Given the description of an element on the screen output the (x, y) to click on. 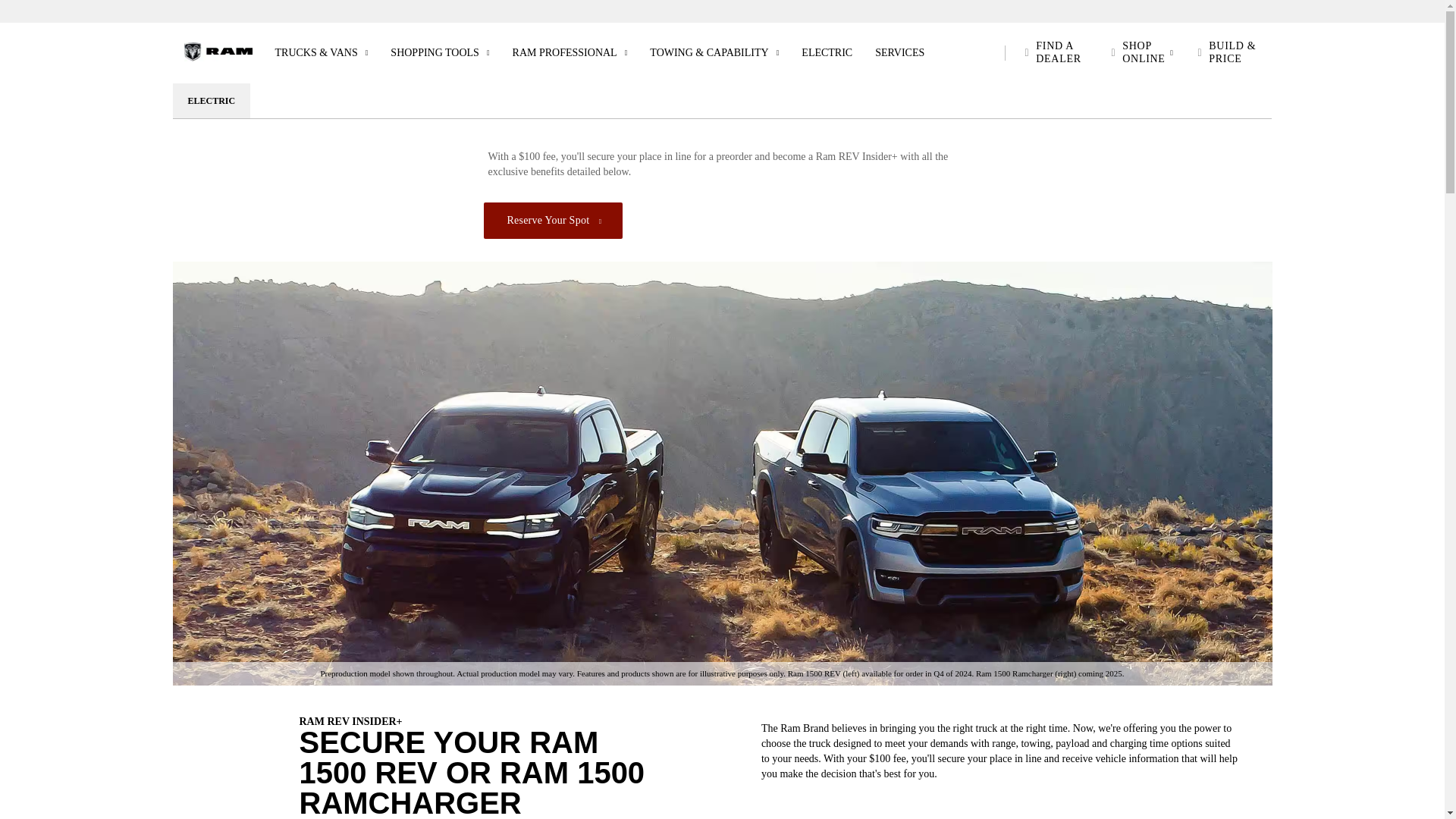
RAM PROFESSIONAL (569, 52)
SERVICES (899, 52)
ELECTRIC (826, 52)
FIND A DEALER (1056, 52)
SHOPPING TOOLS (439, 52)
